Given the description of an element on the screen output the (x, y) to click on. 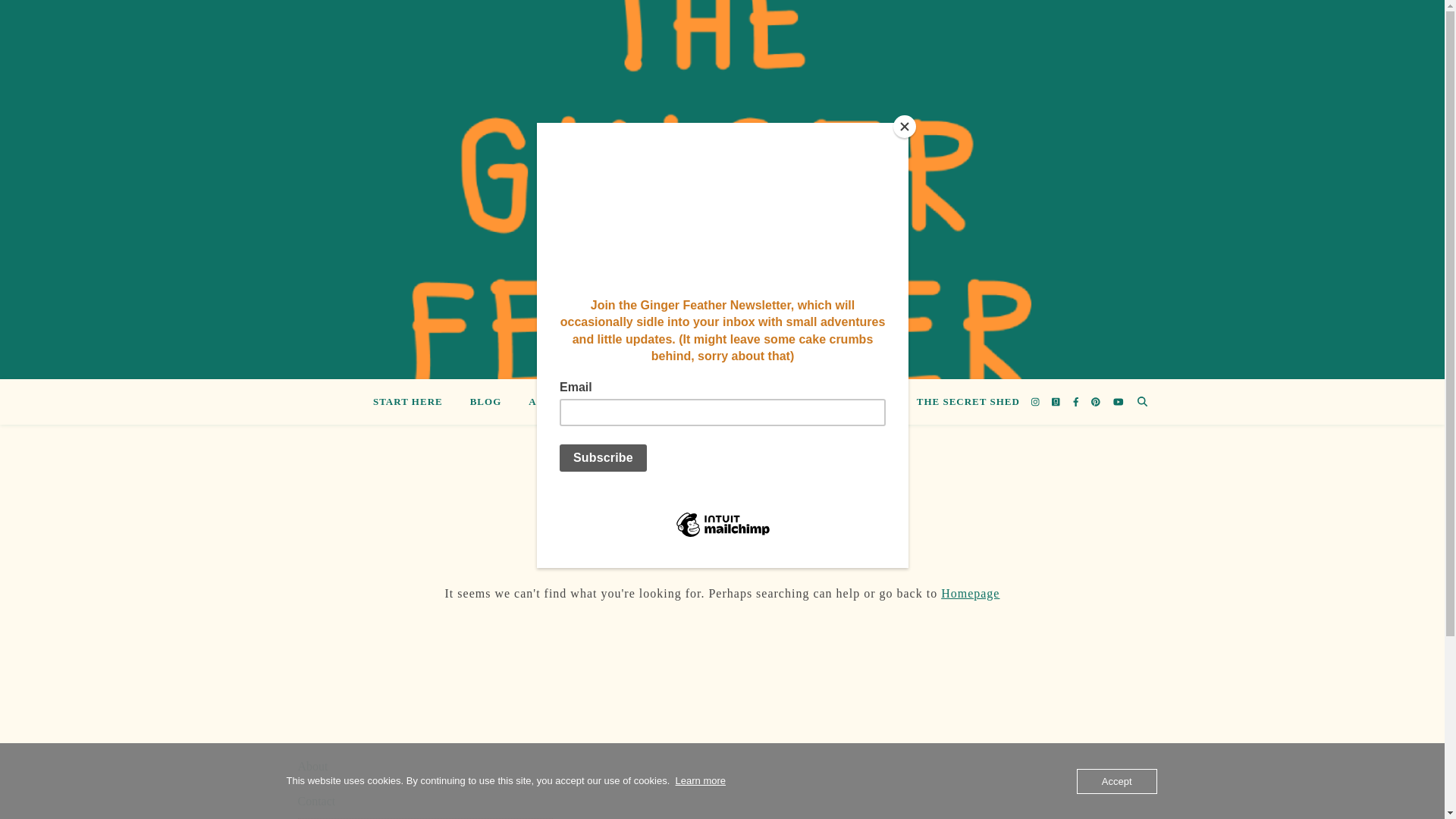
HOME (616, 402)
ABOUT (547, 402)
WORDS (868, 402)
BLOG (485, 402)
MISCELLANY (782, 402)
PLACES (691, 402)
THE SECRET SHED (962, 402)
START HERE (413, 402)
